Given the description of an element on the screen output the (x, y) to click on. 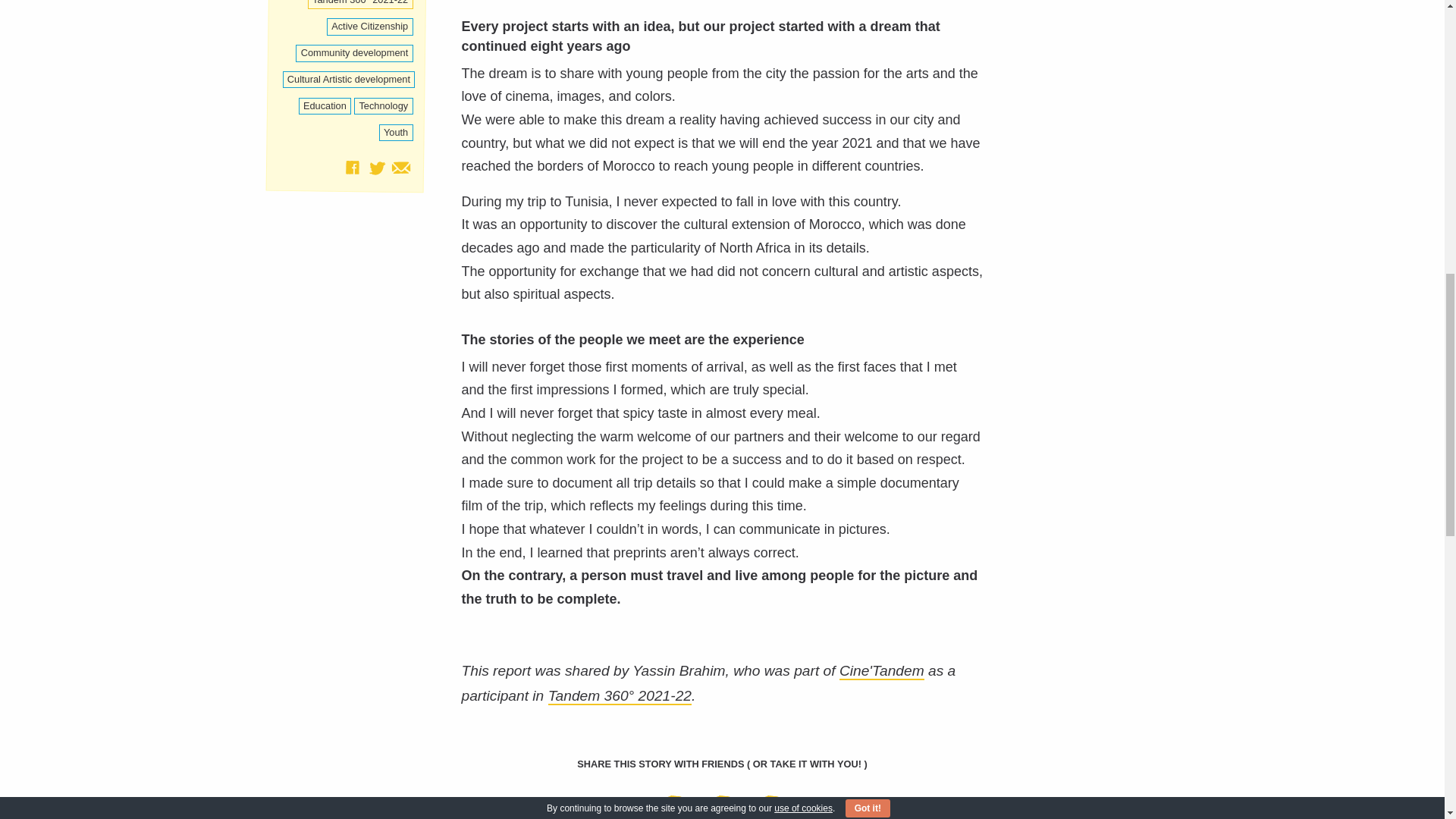
Education (325, 106)
Technology (382, 106)
Share this story on Twitter (376, 167)
Youth (395, 132)
Active Citizenship (369, 27)
Share this story on Facebook (679, 807)
Navigate to Cine'Tandem (882, 671)
Share this story on Twitter (727, 807)
Share this story on Facebook (351, 167)
Cine'Tandem (882, 671)
Community development (353, 53)
Share this story in an e-mail (400, 167)
Cultural Artistic development (348, 79)
Share this story in an e-mail (770, 807)
Community development (353, 53)
